Given the description of an element on the screen output the (x, y) to click on. 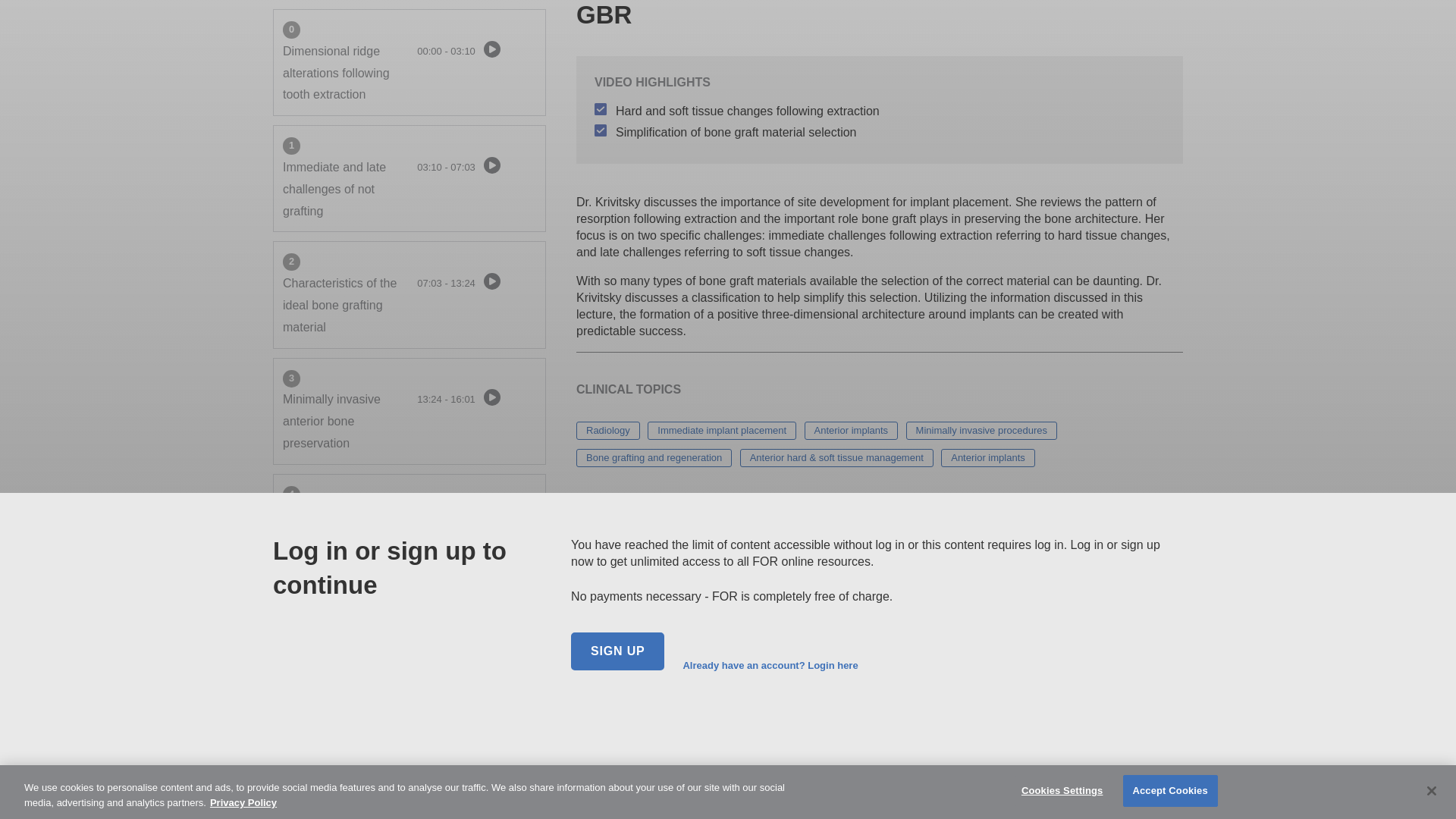
icon-account (641, 722)
